Given the description of an element on the screen output the (x, y) to click on. 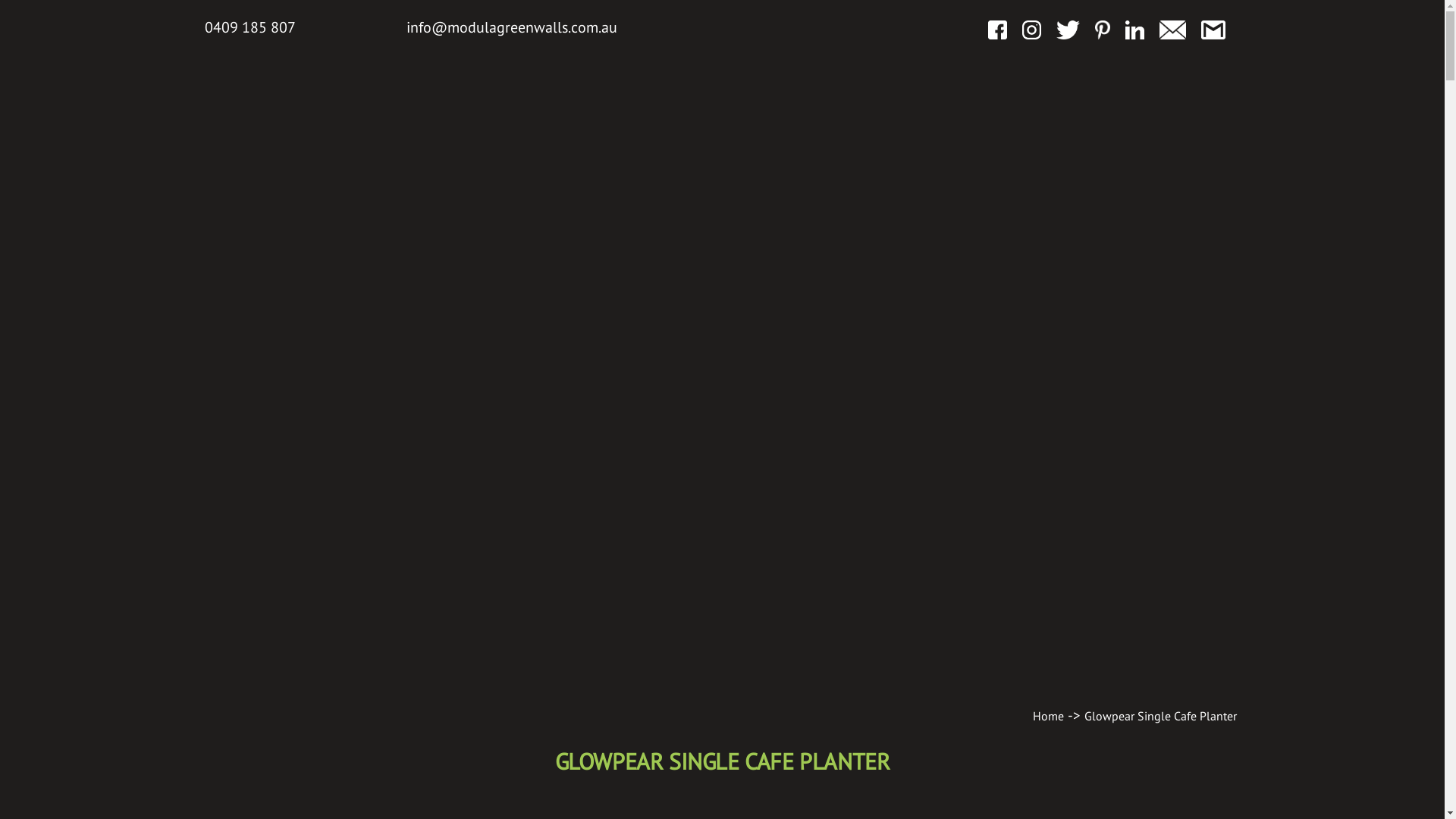
Home Element type: text (1047, 715)
Glowpear Single Cafe Planter Element type: text (1159, 715)
